Given the description of an element on the screen output the (x, y) to click on. 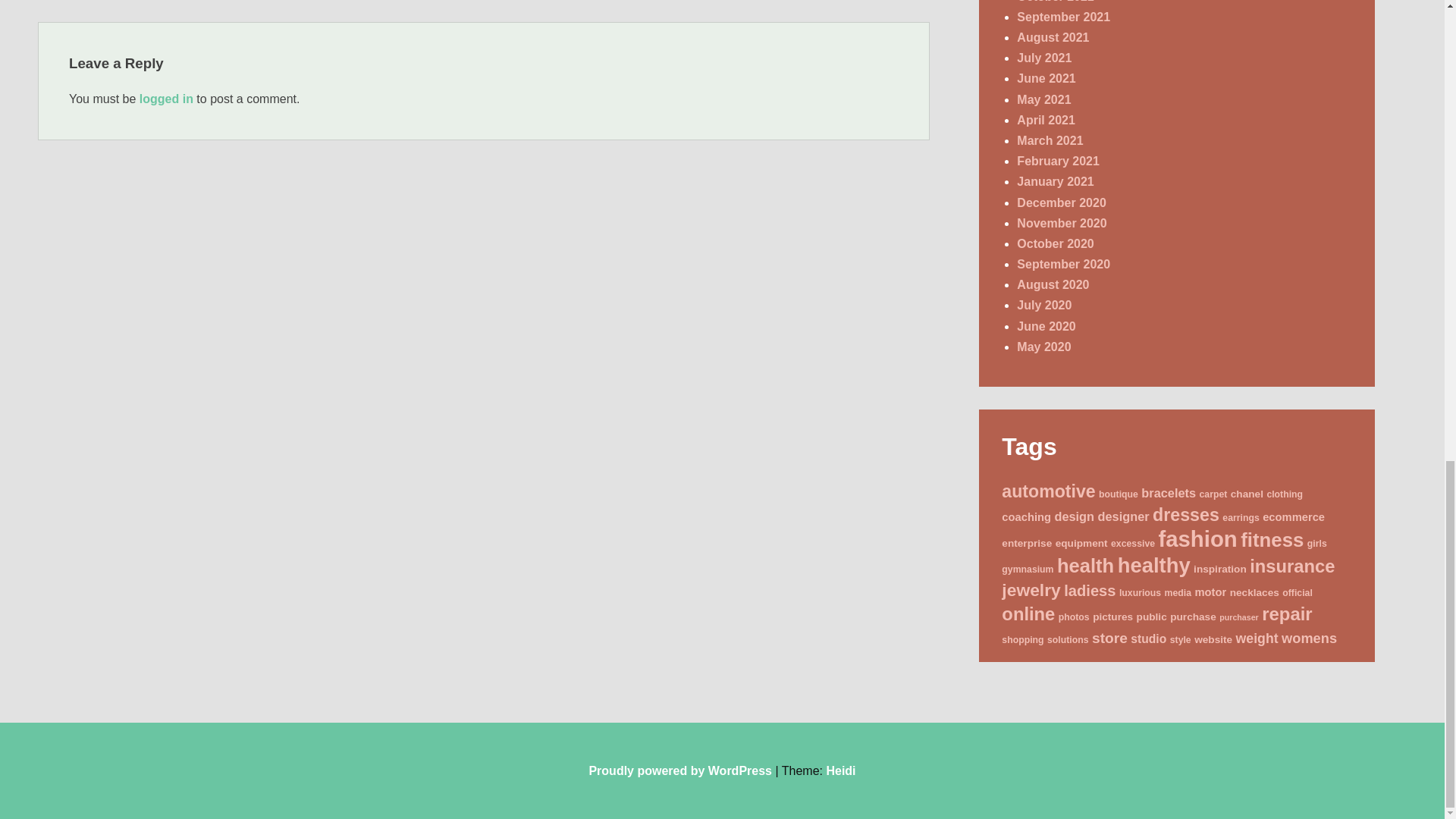
July 2021 (1043, 57)
June 2021 (1045, 78)
September 2021 (1062, 16)
January 2021 (1054, 181)
March 2021 (1049, 140)
October 2021 (1054, 1)
May 2021 (1043, 99)
August 2021 (1052, 37)
logged in (166, 98)
February 2021 (1057, 160)
April 2021 (1045, 119)
